Given the description of an element on the screen output the (x, y) to click on. 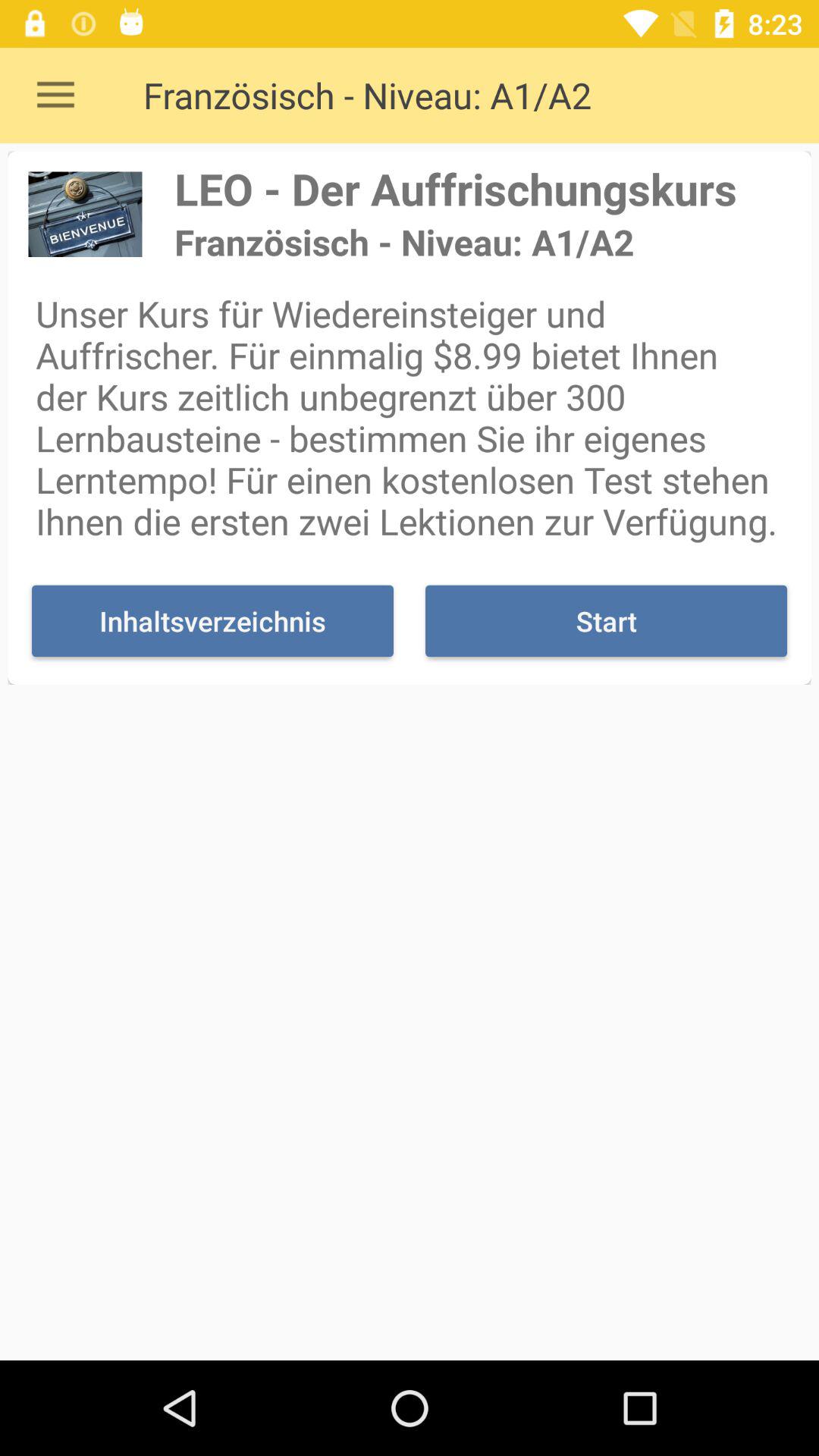
press icon on the left (212, 620)
